Given the description of an element on the screen output the (x, y) to click on. 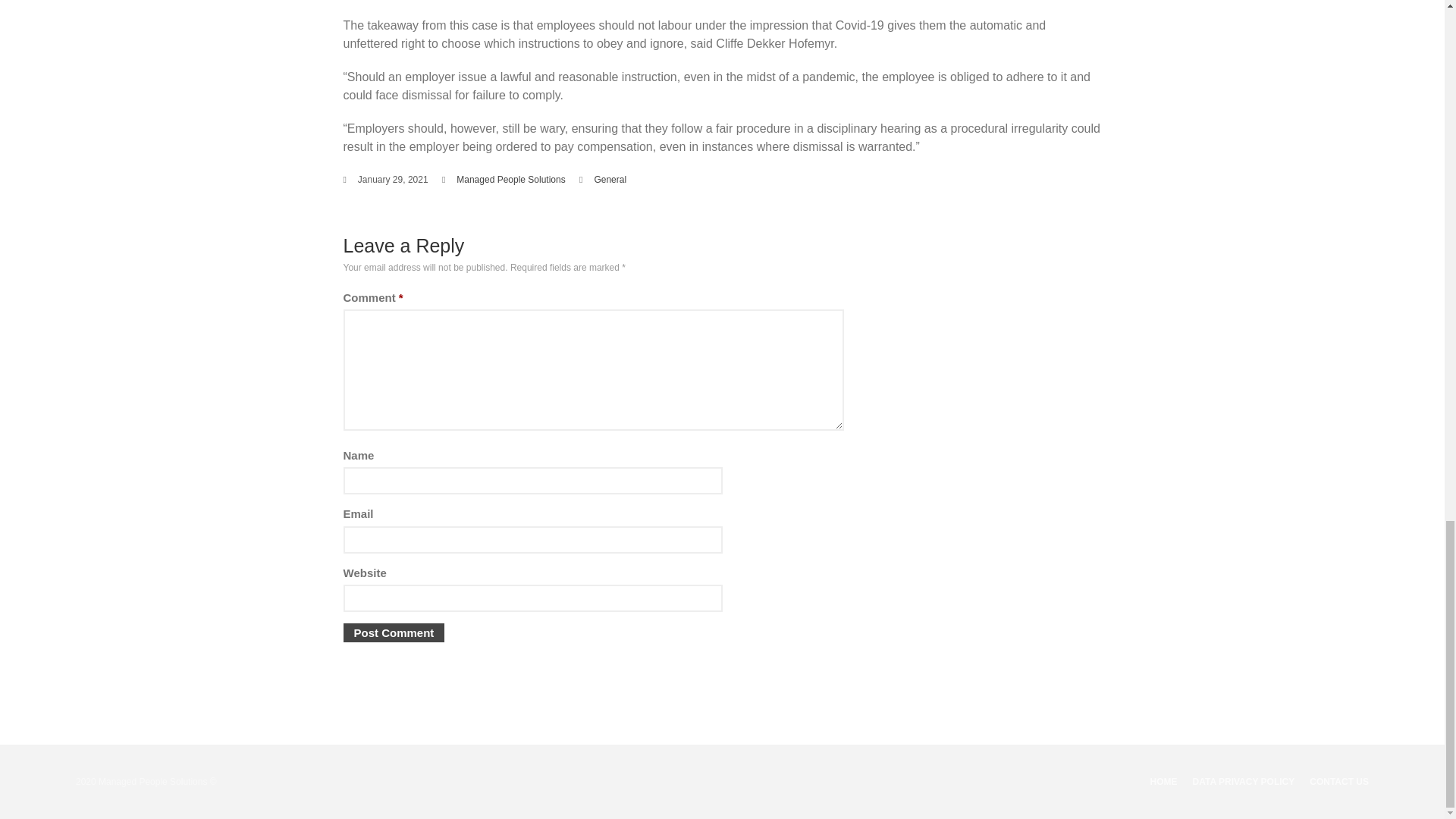
View all posts by Managed People Solutions (510, 179)
View all posts in General (610, 179)
Post Comment (393, 632)
